Given the description of an element on the screen output the (x, y) to click on. 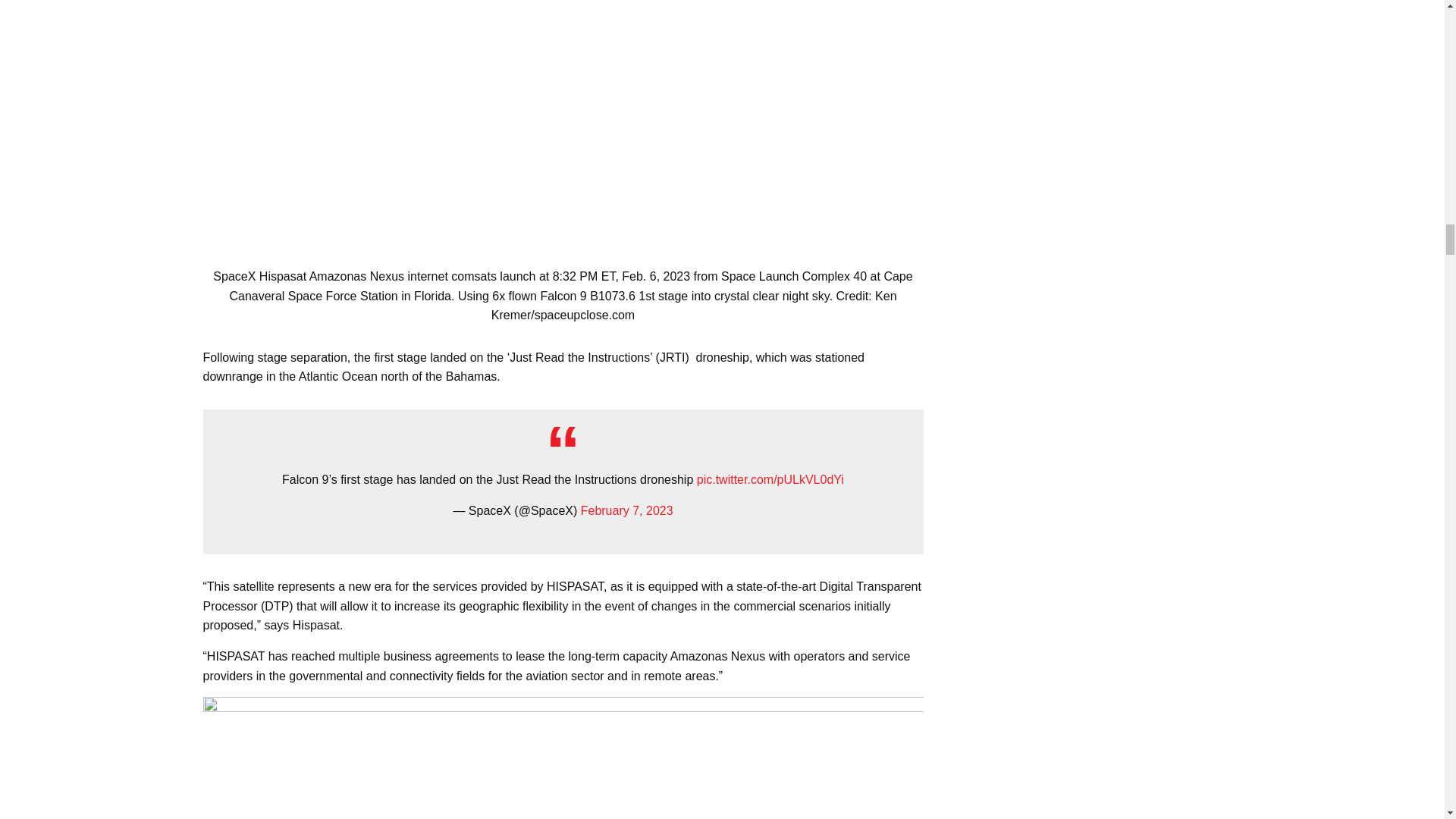
February 7, 2023 (626, 510)
